Given the description of an element on the screen output the (x, y) to click on. 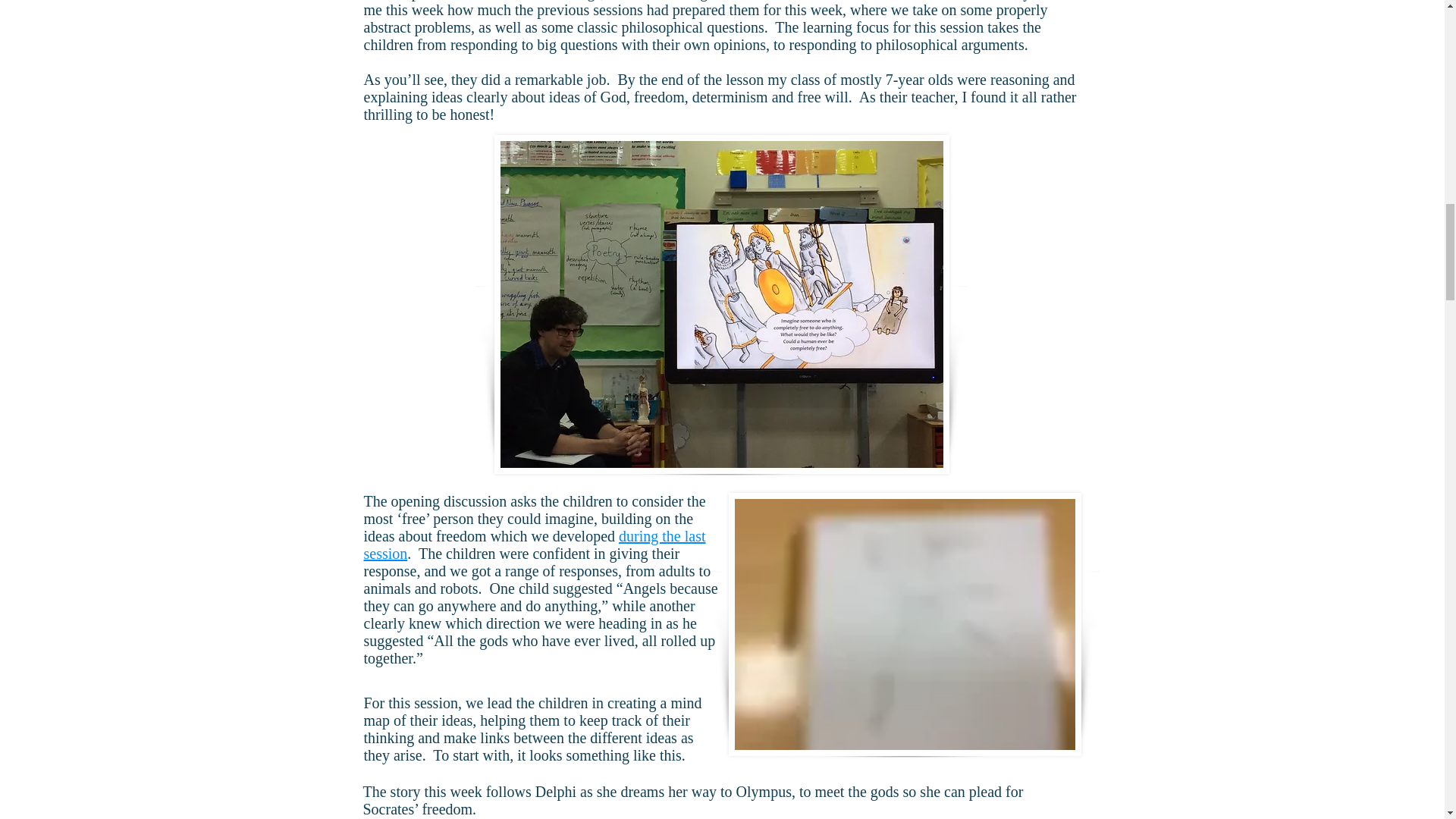
Free mind map (904, 624)
during the last session (535, 544)
